Given the description of an element on the screen output the (x, y) to click on. 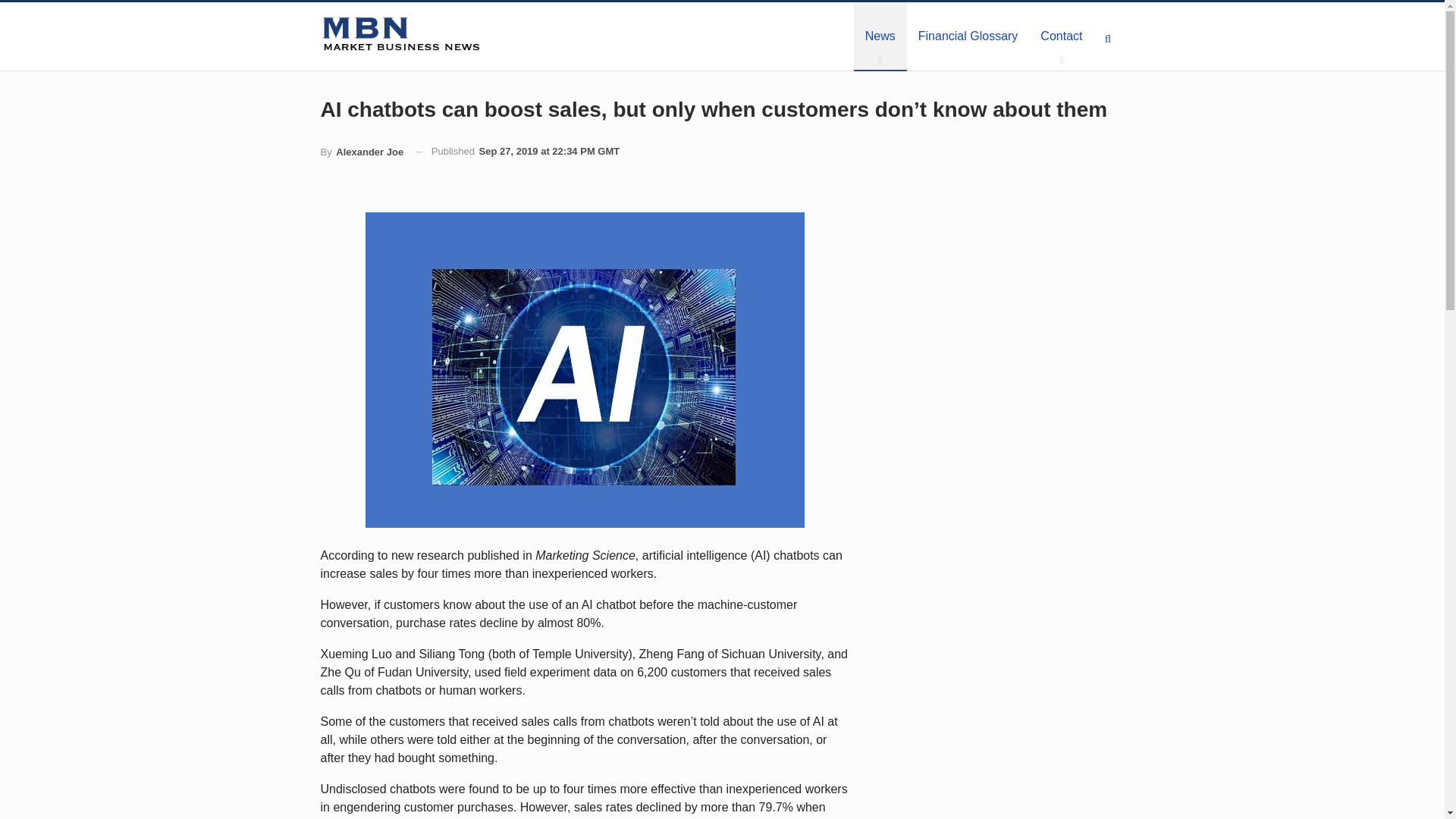
By Alexander Joe (361, 152)
Contact (1061, 36)
Browse Author Articles (361, 152)
Financial Glossary (968, 36)
